Given the description of an element on the screen output the (x, y) to click on. 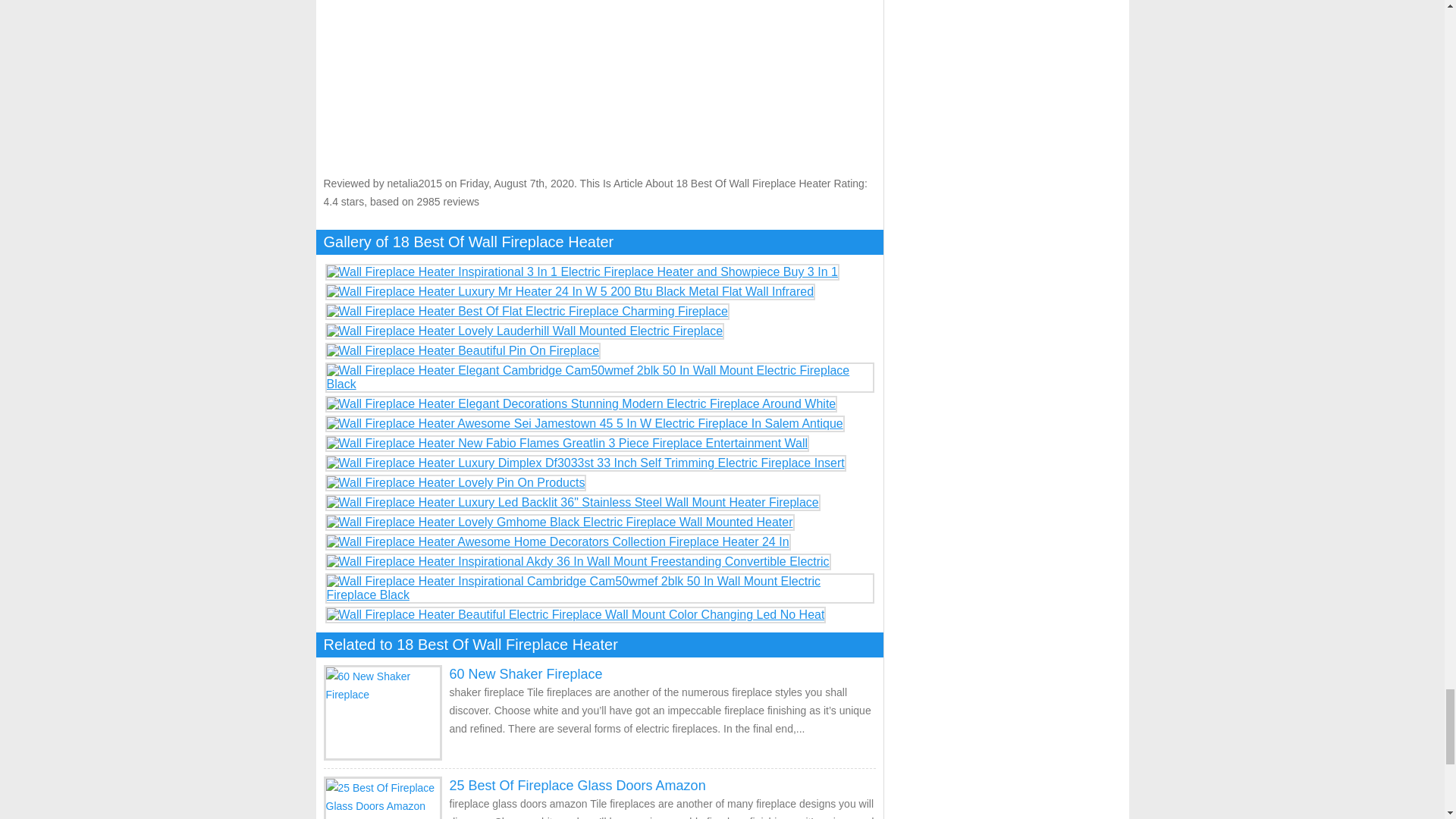
25 Best Of Fireplace Glass Doors Amazon (576, 785)
60 New Shaker Fireplace (525, 673)
